Given the description of an element on the screen output the (x, y) to click on. 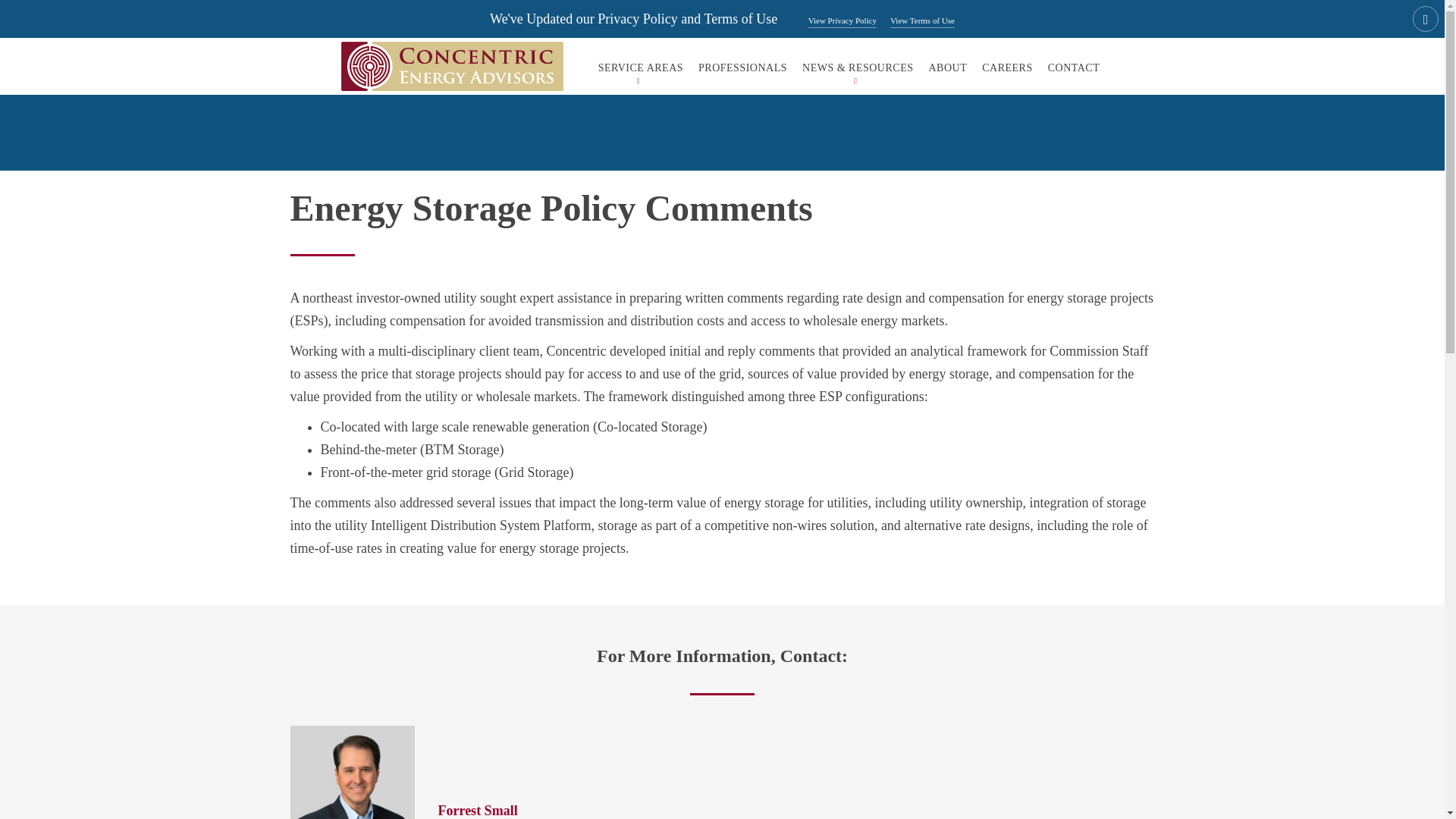
View Terms of Use (922, 21)
View Privacy Policy (842, 21)
CONTACT (1074, 67)
SERVICE AREAS (640, 67)
ABOUT (947, 67)
PROFESSIONALS (742, 67)
CAREERS (1007, 67)
